Given the description of an element on the screen output the (x, y) to click on. 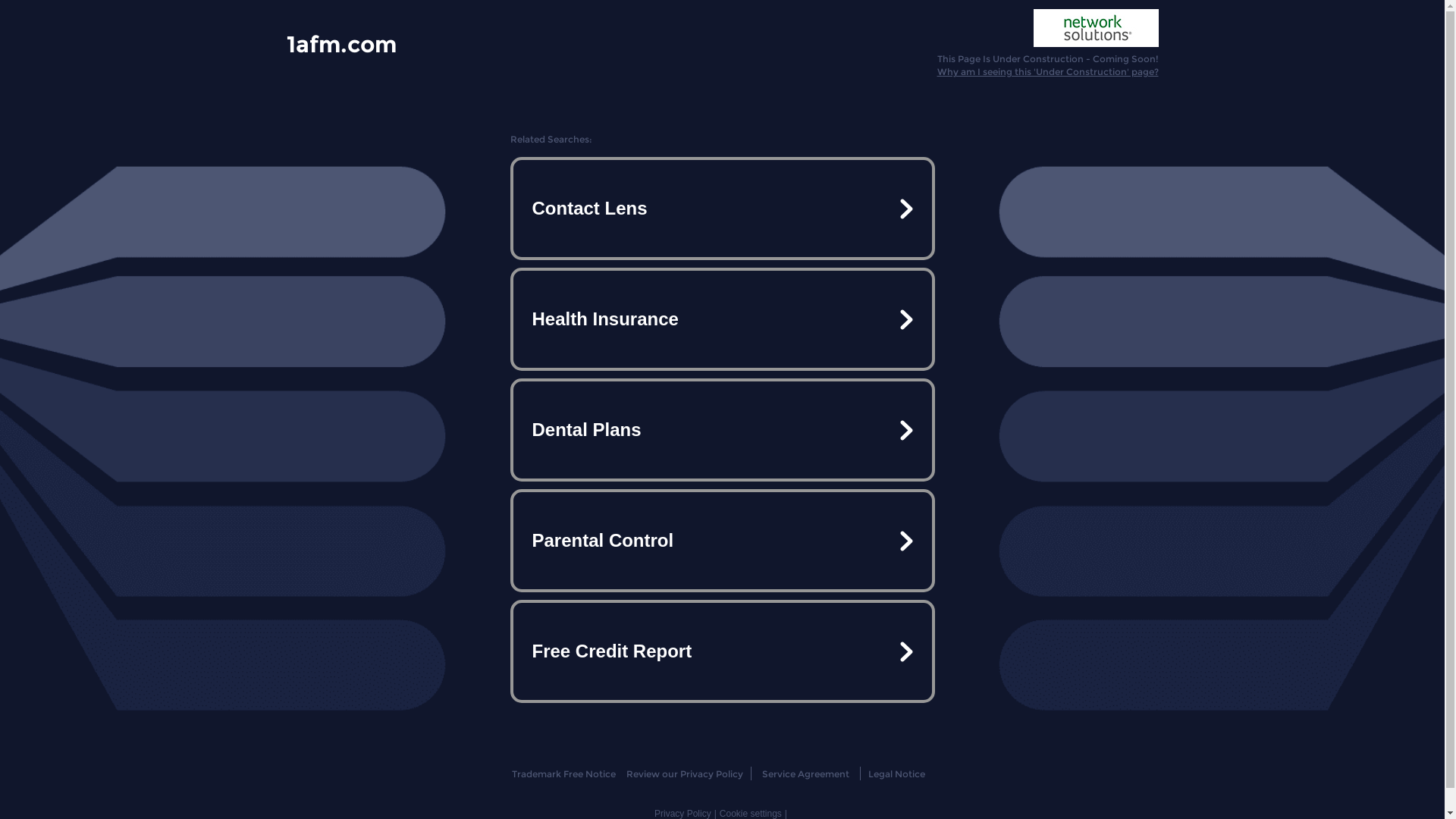
Trademark Free Notice Element type: text (563, 773)
Parental Control Element type: text (721, 540)
Service Agreement Element type: text (805, 773)
Review our Privacy Policy Element type: text (684, 773)
Free Credit Report Element type: text (721, 650)
Legal Notice Element type: text (896, 773)
1afm.com Element type: text (341, 43)
Why am I seeing this 'Under Construction' page? Element type: text (1047, 71)
Contact Lens Element type: text (721, 208)
Dental Plans Element type: text (721, 429)
Health Insurance Element type: text (721, 318)
